Given the description of an element on the screen output the (x, y) to click on. 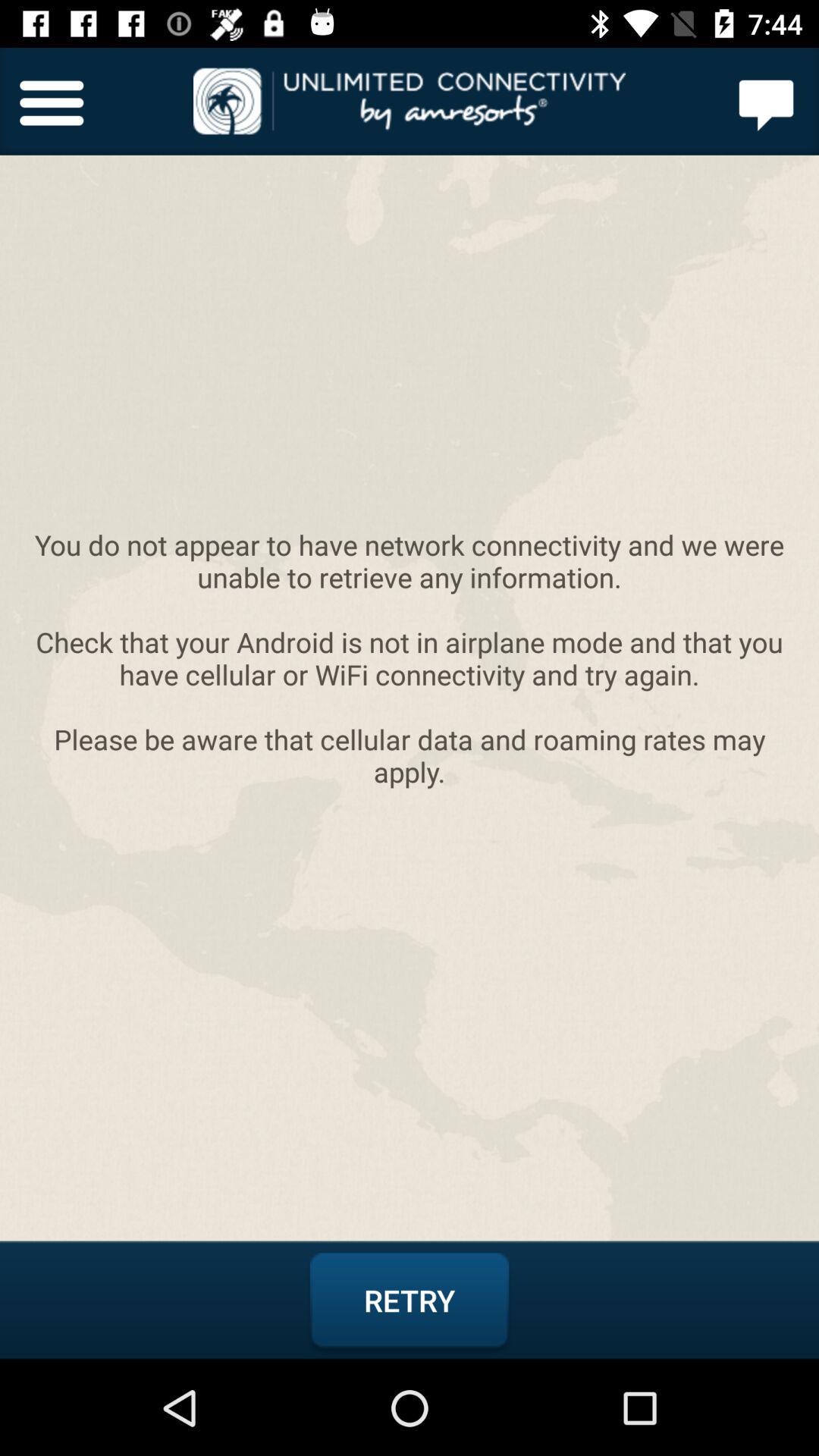
tap retry (409, 1300)
